Given the description of an element on the screen output the (x, y) to click on. 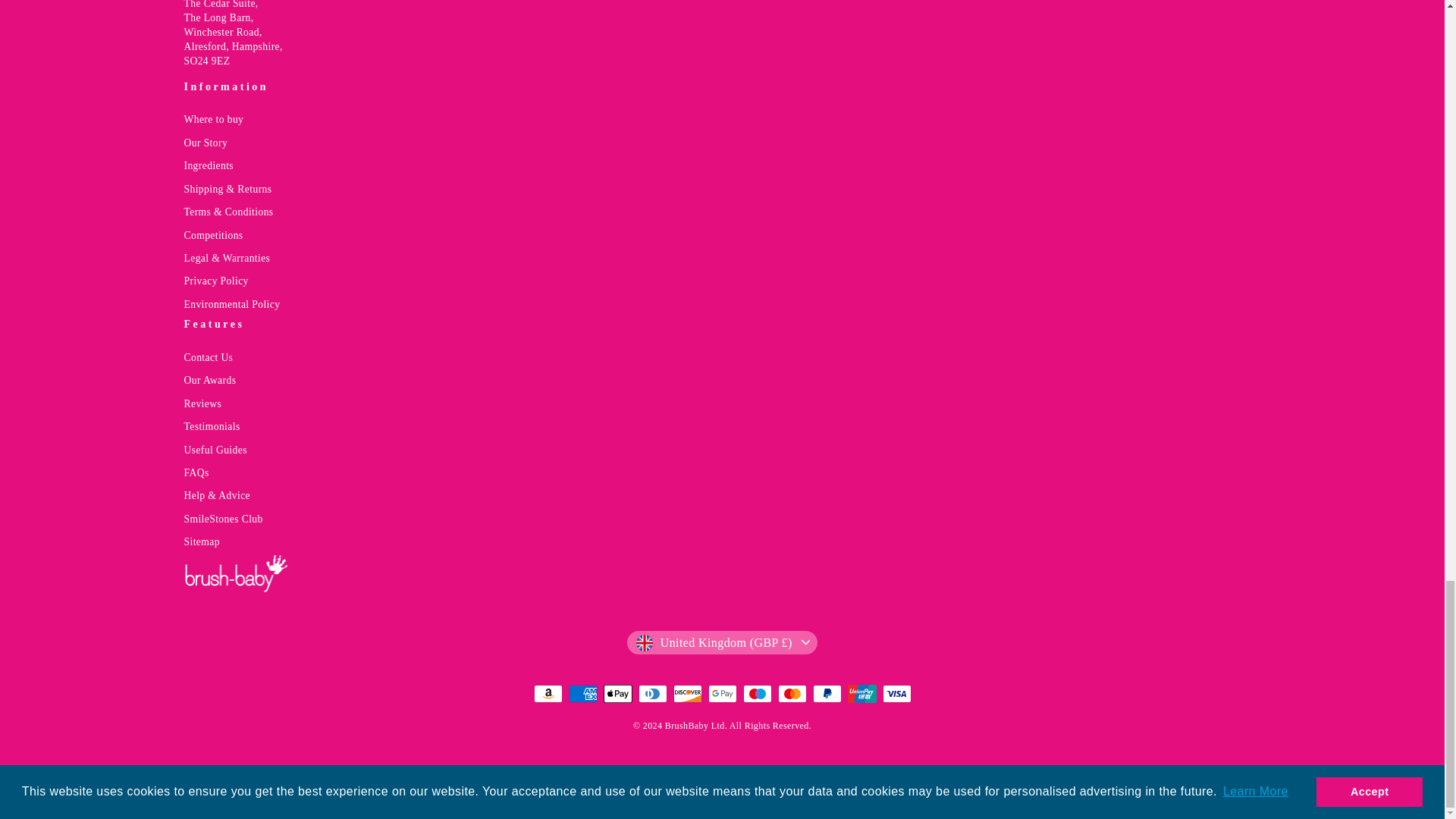
Amazon (548, 693)
Mastercard (791, 693)
Discover (686, 693)
Diners Club (652, 693)
American Express (582, 693)
Apple Pay (617, 693)
Visa (896, 693)
Google Pay (721, 693)
PayPal (826, 693)
Maestro (756, 693)
Union Pay (861, 693)
